Given the description of an element on the screen output the (x, y) to click on. 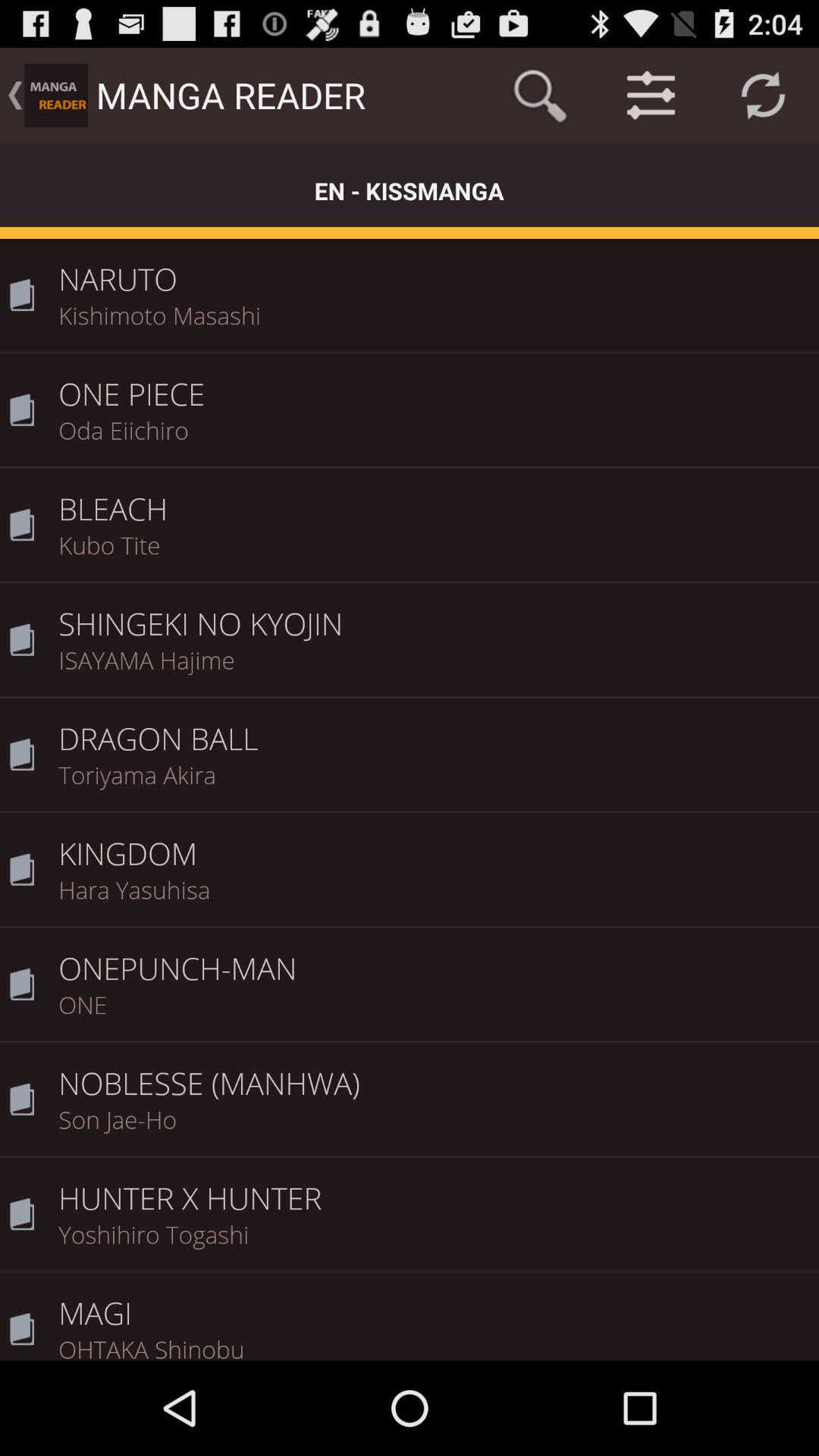
launch icon above the naruto item (763, 95)
